Given the description of an element on the screen output the (x, y) to click on. 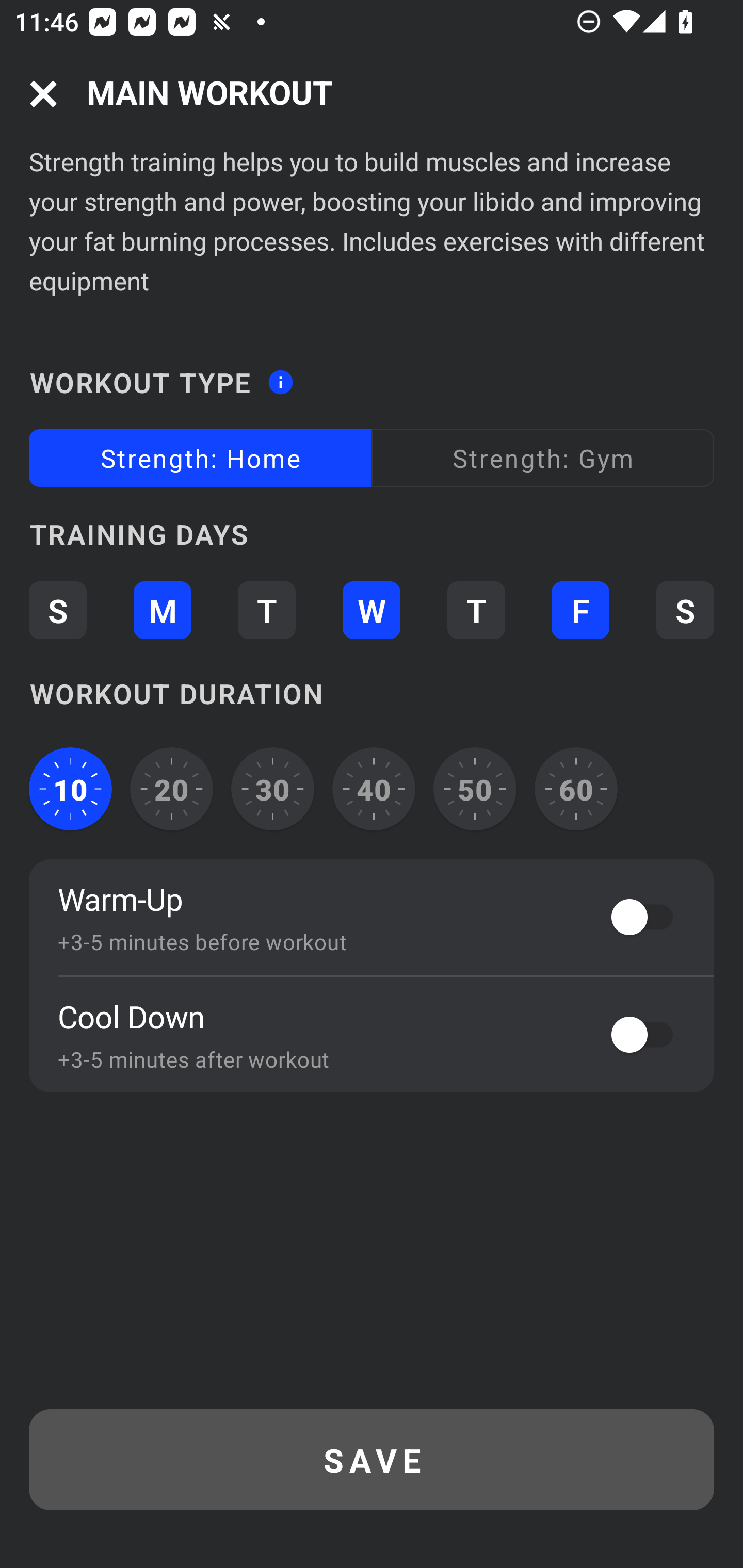
Navigation icon (43, 93)
Workout type information button (280, 375)
Strength: Home (199, 457)
Strength: Gym (542, 457)
S (57, 610)
T (266, 610)
T (476, 610)
S (684, 610)
10 (70, 789)
20 (171, 789)
30 (272, 789)
40 (373, 789)
50 (474, 789)
60 (575, 789)
SAVE (371, 1459)
